Given the description of an element on the screen output the (x, y) to click on. 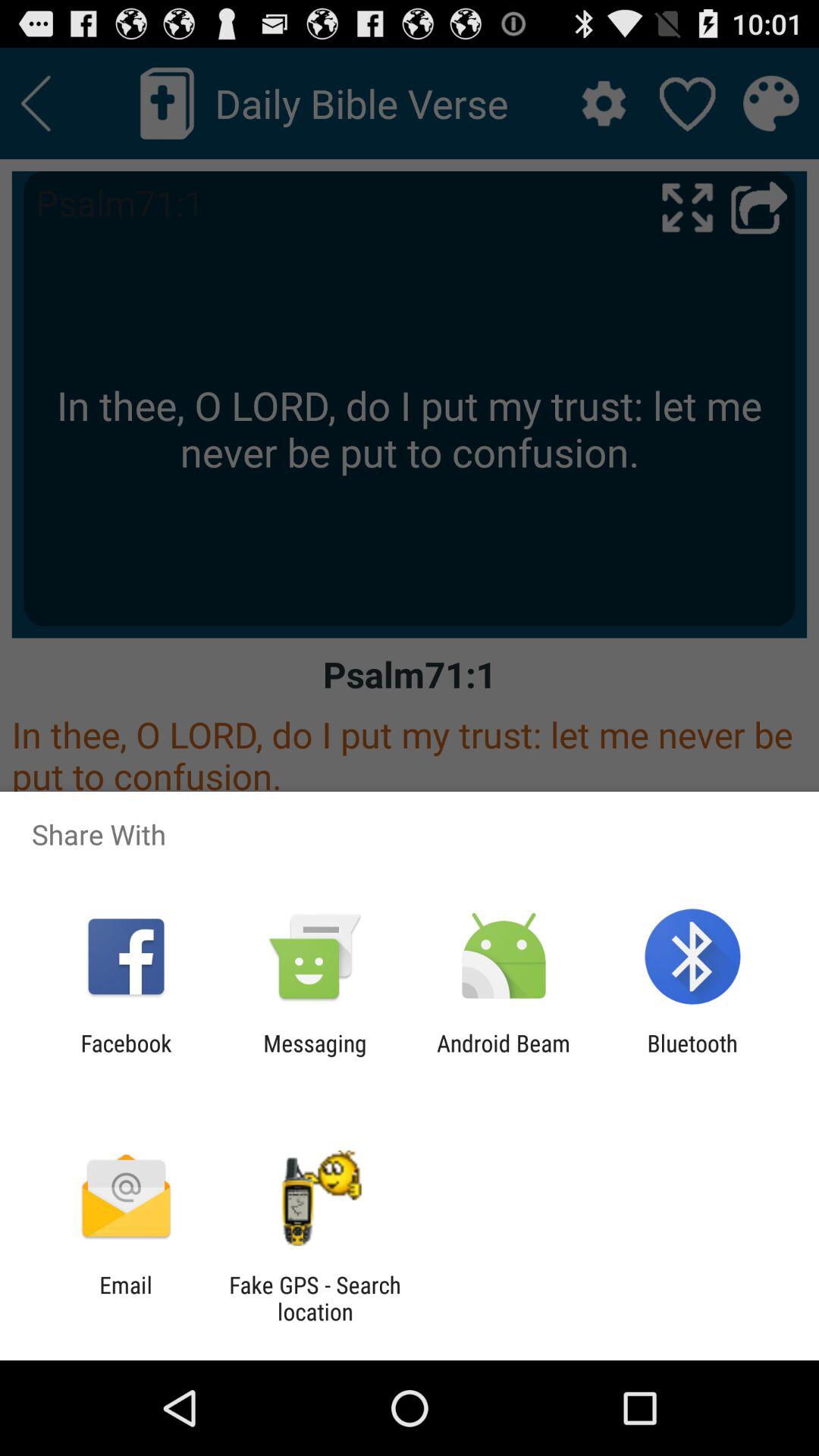
turn off the app to the left of the android beam app (314, 1056)
